Given the description of an element on the screen output the (x, y) to click on. 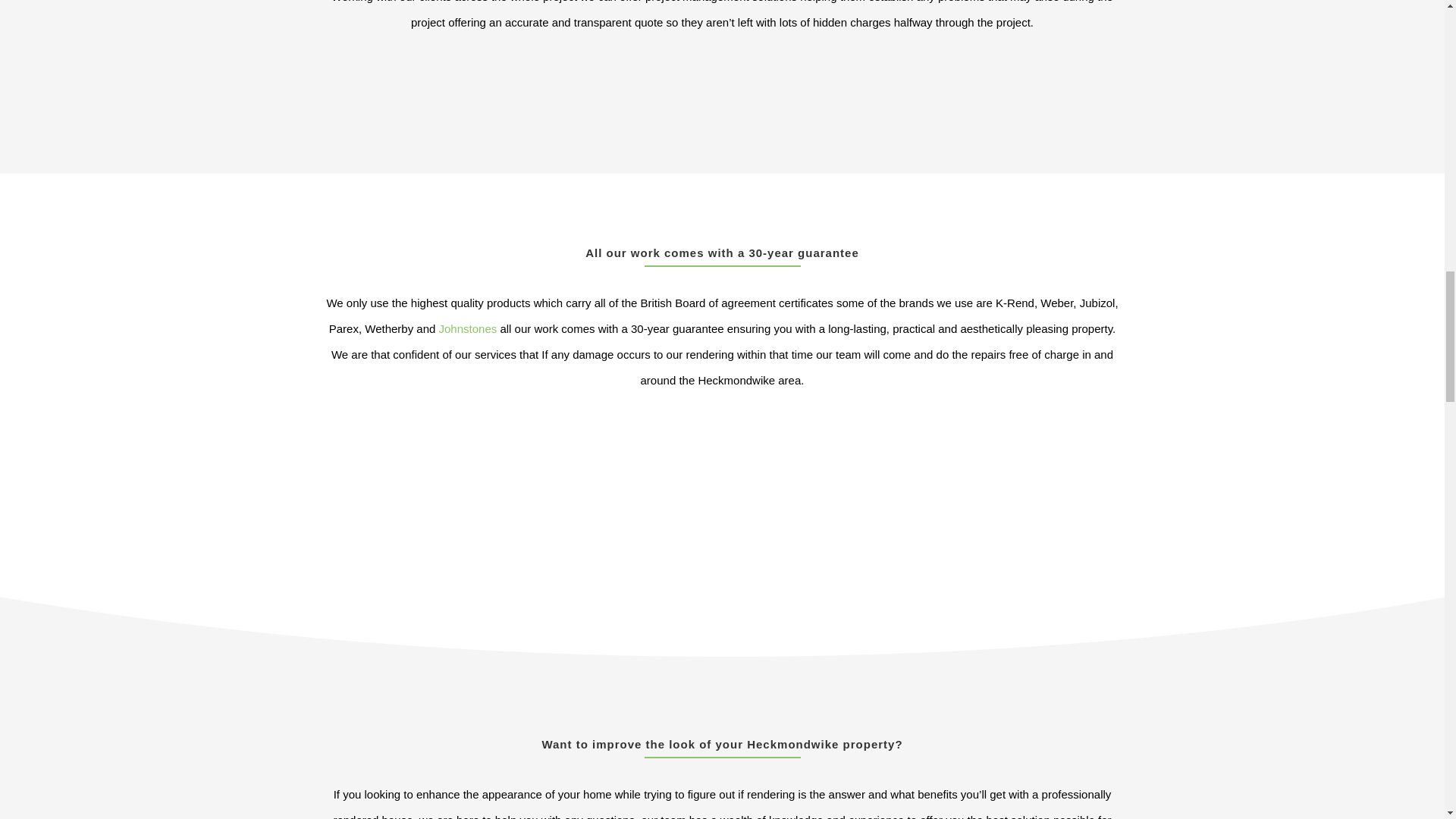
Johnstones (468, 328)
